Given the description of an element on the screen output the (x, y) to click on. 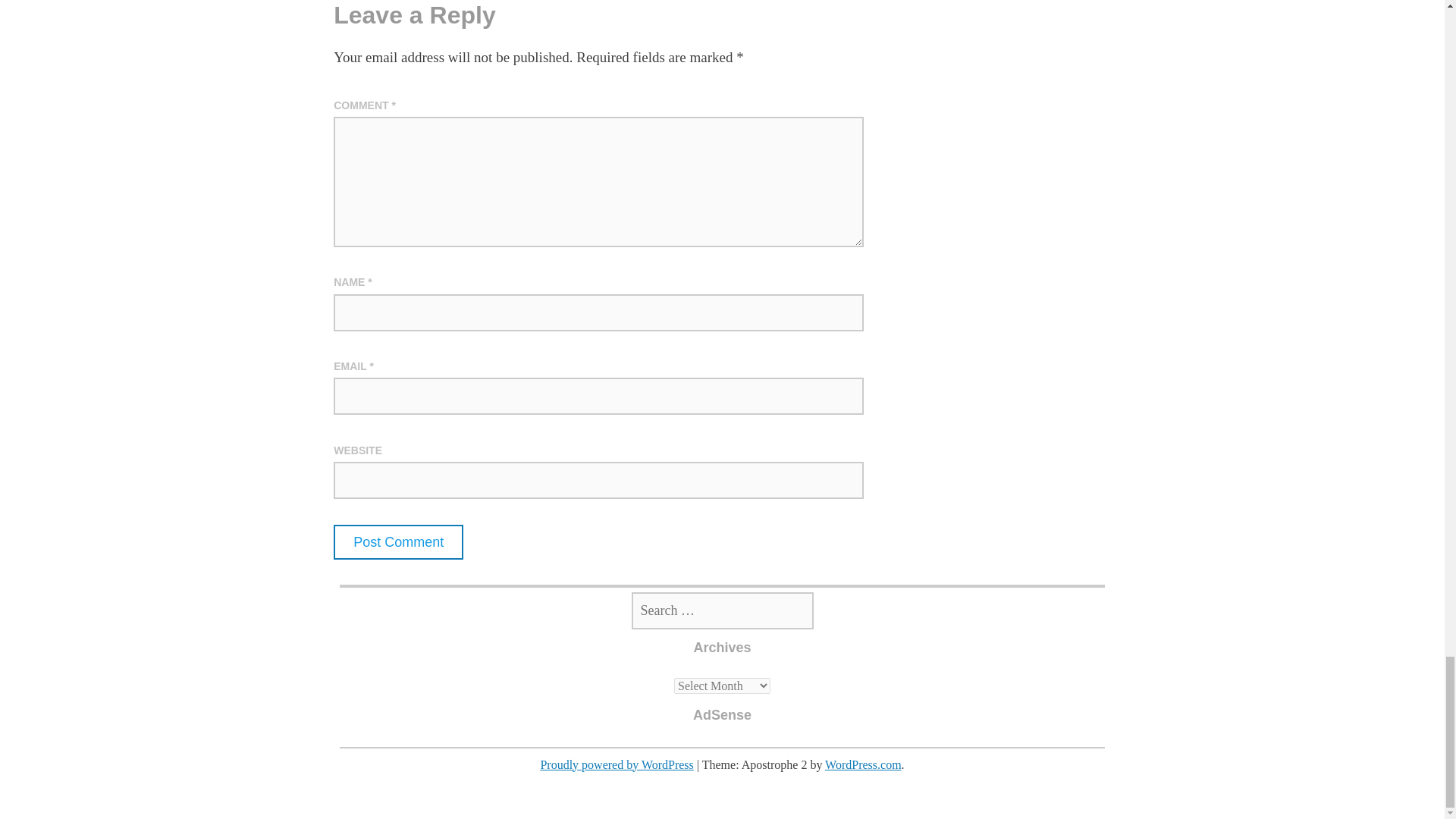
Post Comment (398, 541)
